Given the description of an element on the screen output the (x, y) to click on. 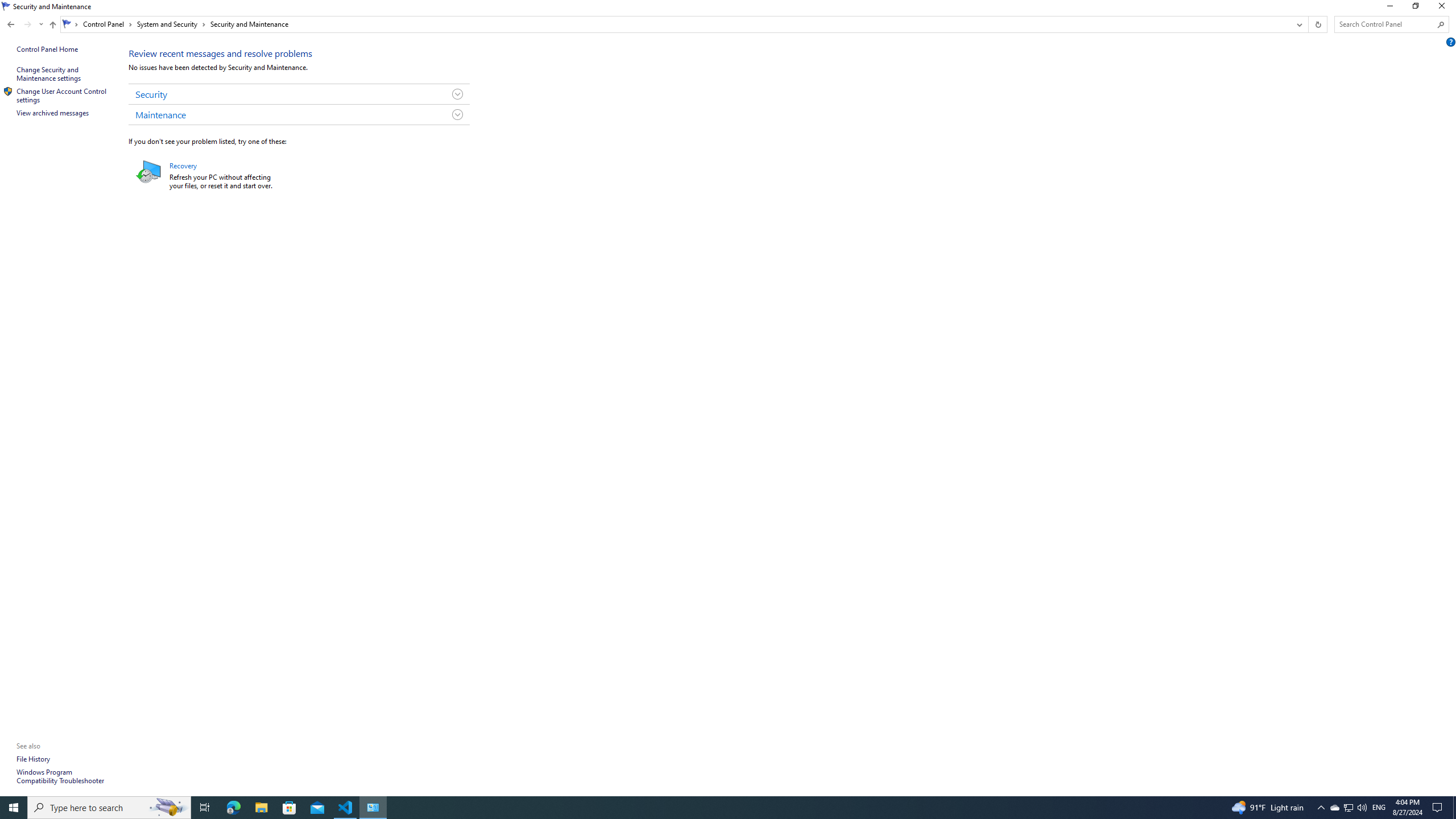
Up band toolbar (52, 26)
System and Security (171, 23)
All locations (70, 23)
Review recent messages and resolve problems (219, 52)
Search Box (1386, 23)
Change Security and Maintenance settings (48, 73)
Refresh "Security and Maintenance" (F5) (1316, 23)
Icon (7, 90)
Restore (1415, 8)
Toggle Maintenance Group (457, 114)
System (6, 6)
View archived messages (53, 112)
Windows Program Compatibility Troubleshooter (60, 776)
